Given the description of an element on the screen output the (x, y) to click on. 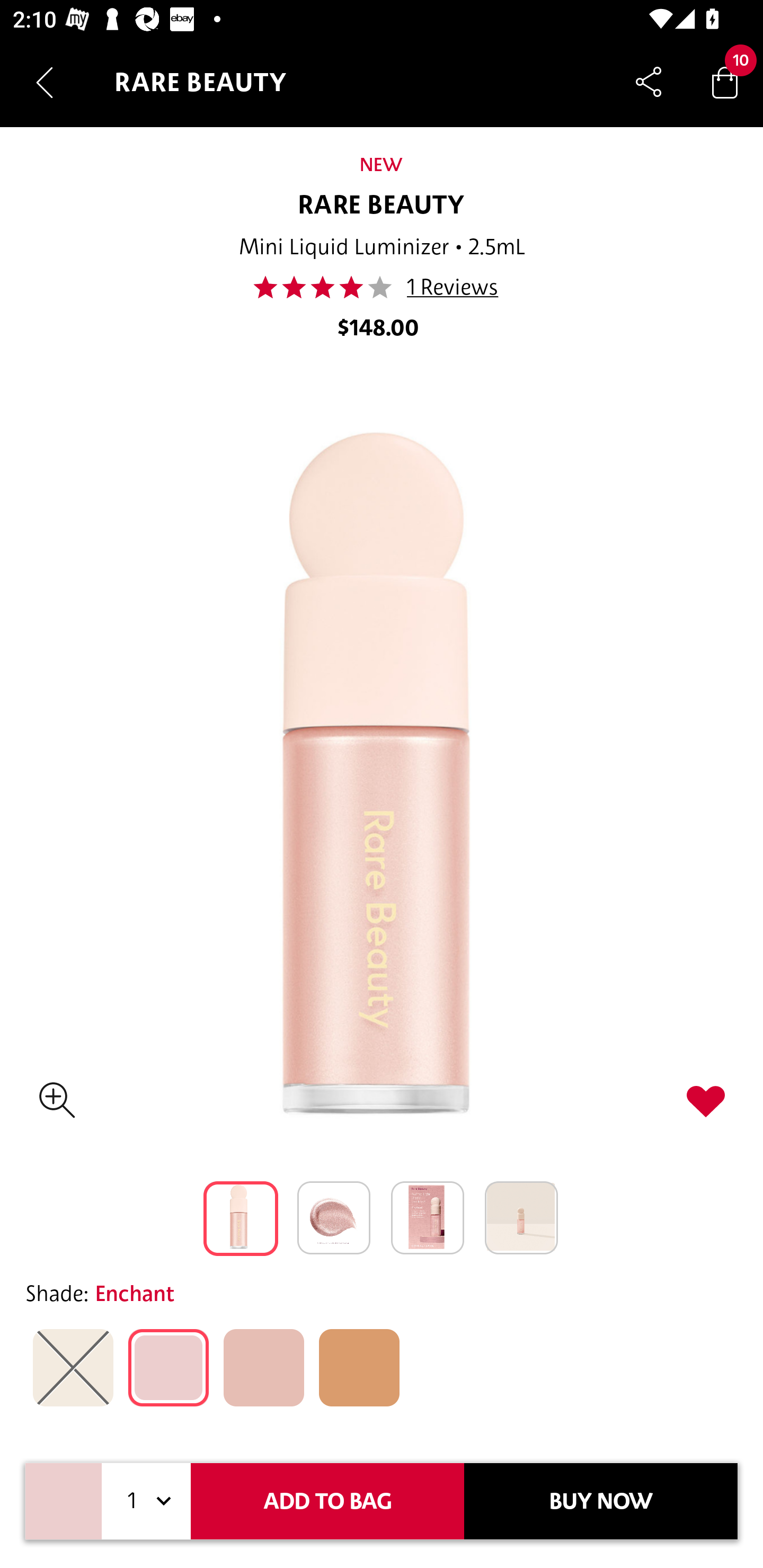
Navigate up (44, 82)
Share (648, 81)
Bag (724, 81)
RARE BEAUTY (381, 205)
40.0 1 Reviews (381, 286)
1 (145, 1500)
ADD TO BAG (326, 1500)
BUY NOW (600, 1500)
